Given the description of an element on the screen output the (x, y) to click on. 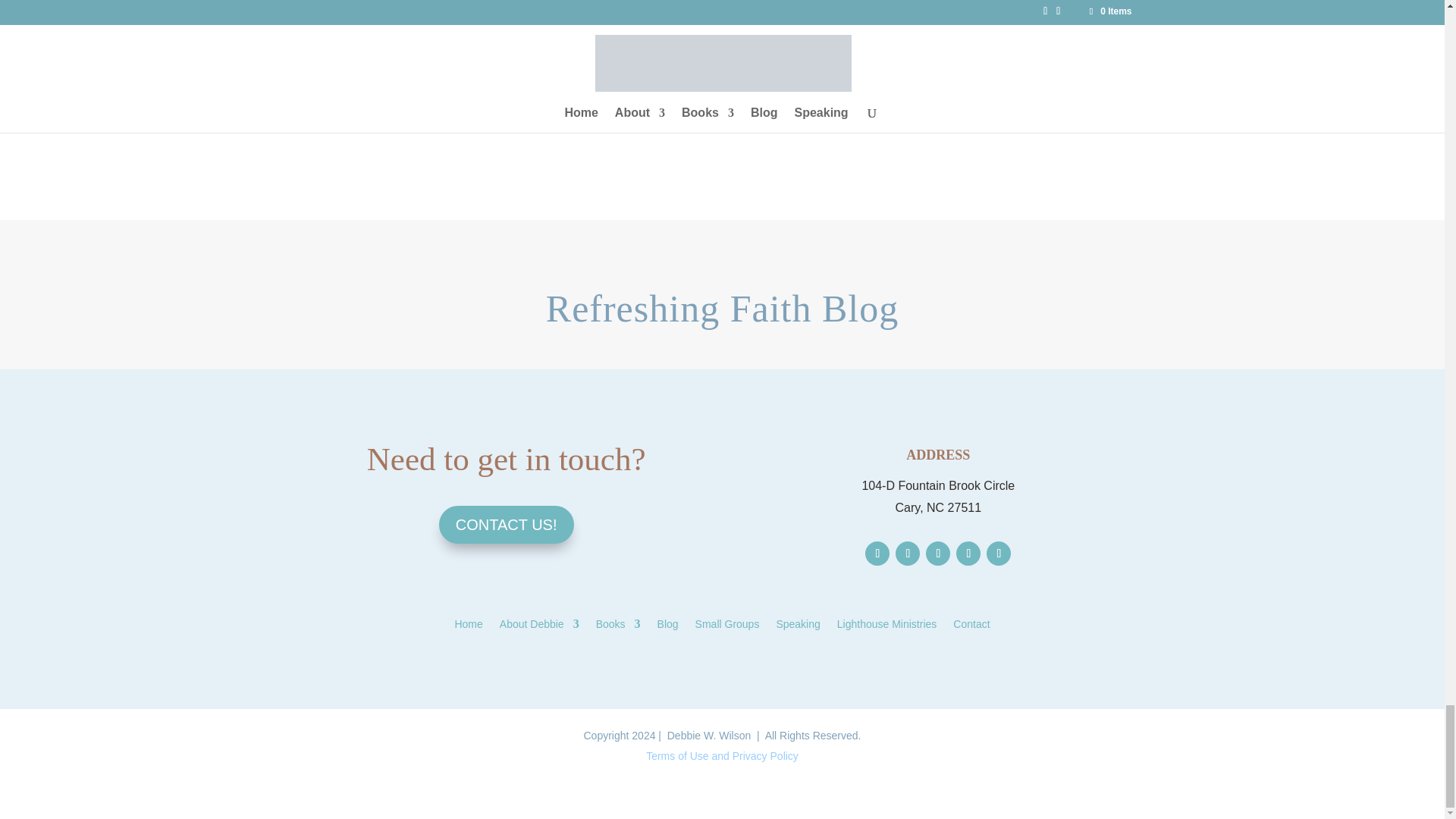
Follow on X (907, 553)
Follow on Facebook (876, 553)
Follow on RSS (998, 553)
Follow on Pinterest (967, 553)
Follow on Instagram (938, 553)
